Given the description of an element on the screen output the (x, y) to click on. 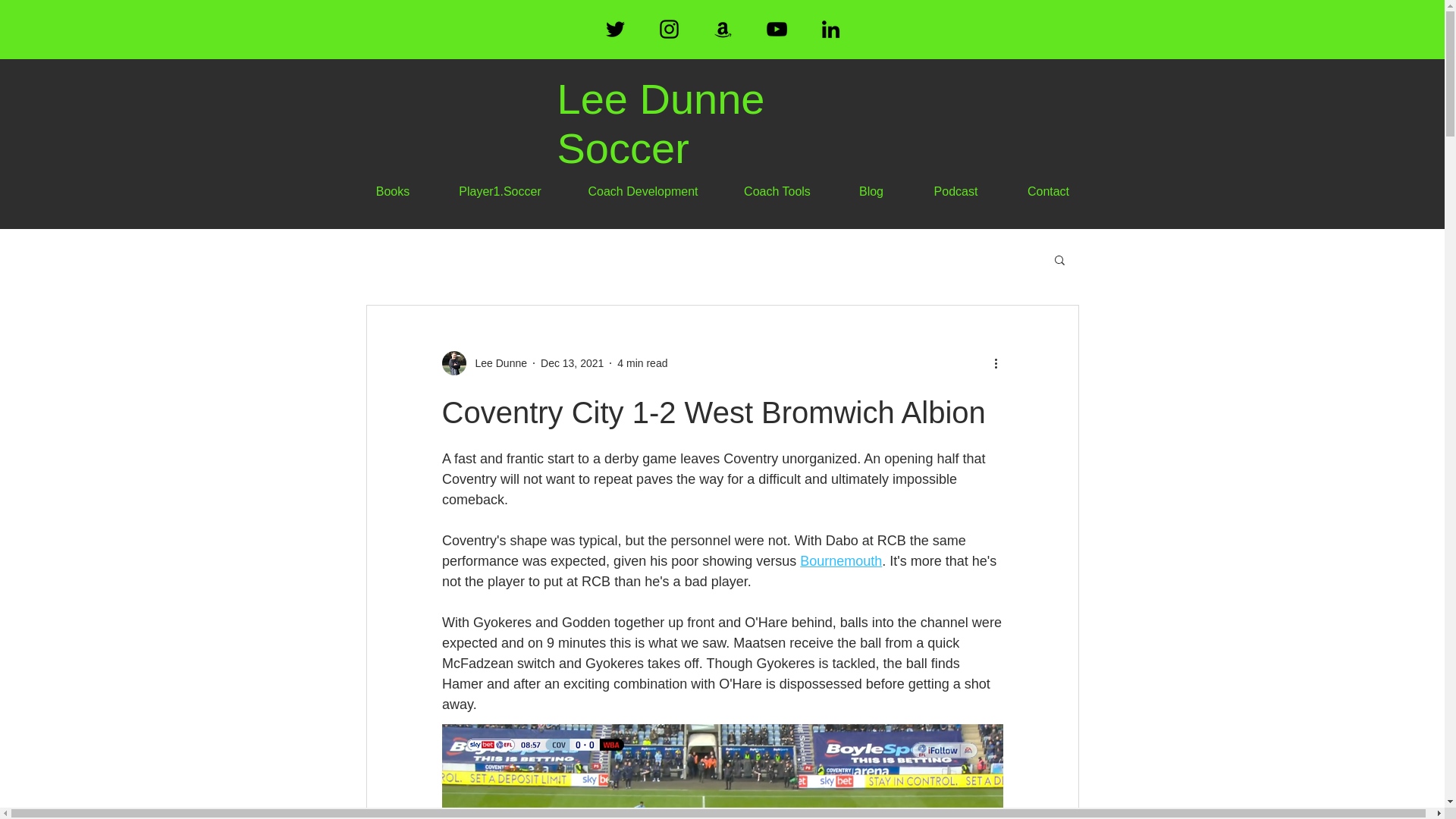
Podcast (955, 191)
Player1.Soccer (500, 191)
Lee Dunne Soccer (660, 123)
Books (391, 191)
Coach Development (643, 191)
Bournemouth (840, 560)
Coach Tools (776, 191)
4 min read (641, 362)
Blog (871, 191)
Lee Dunne (496, 362)
Contact (1048, 191)
Dec 13, 2021 (572, 362)
Lee Dunne (484, 363)
